Given the description of an element on the screen output the (x, y) to click on. 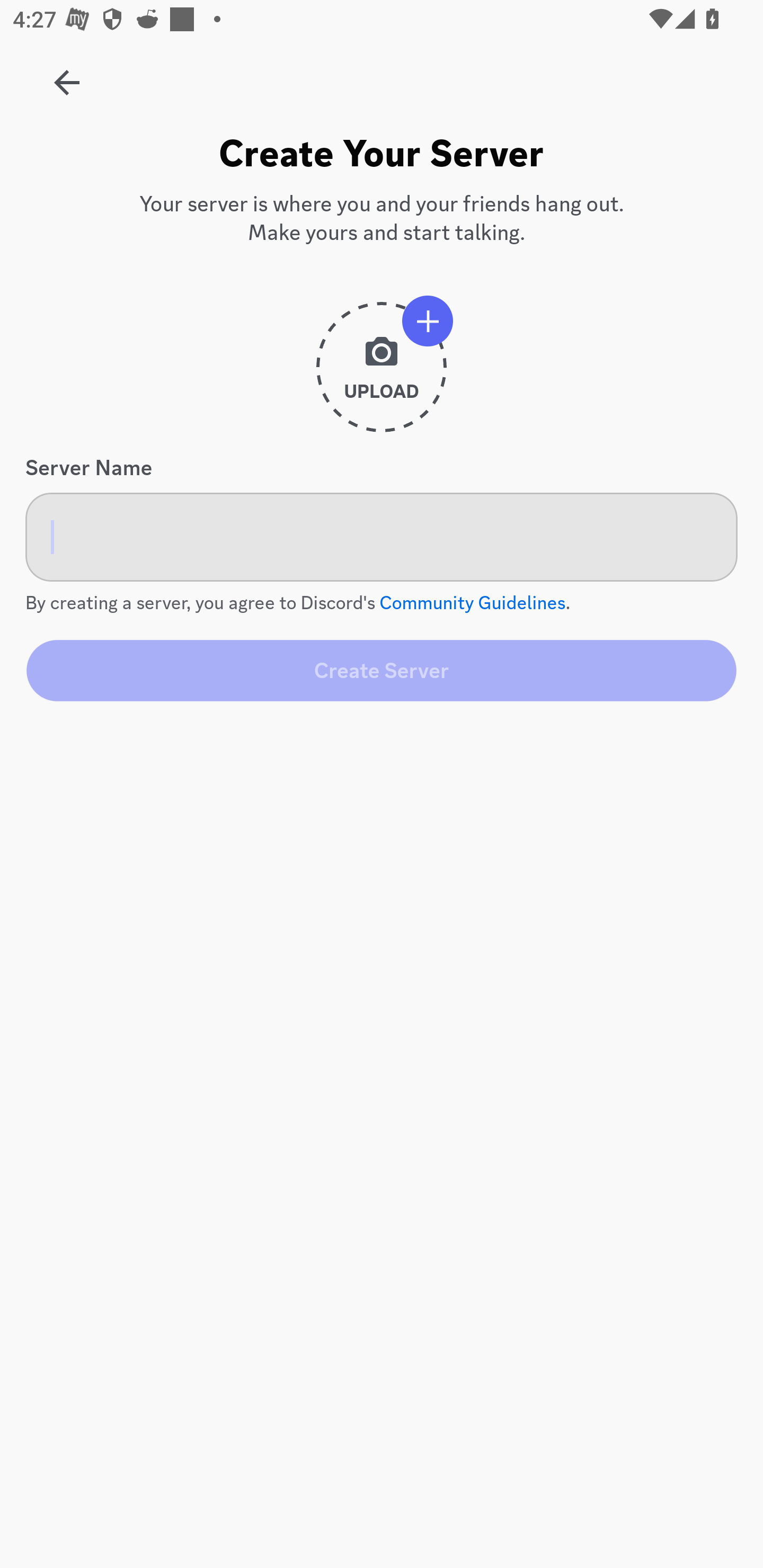
  Friends F (66, 75)
Search (373, 165)
Upload Image UPLOAD (381, 373)
Create Server (381, 670)
